Given the description of an element on the screen output the (x, y) to click on. 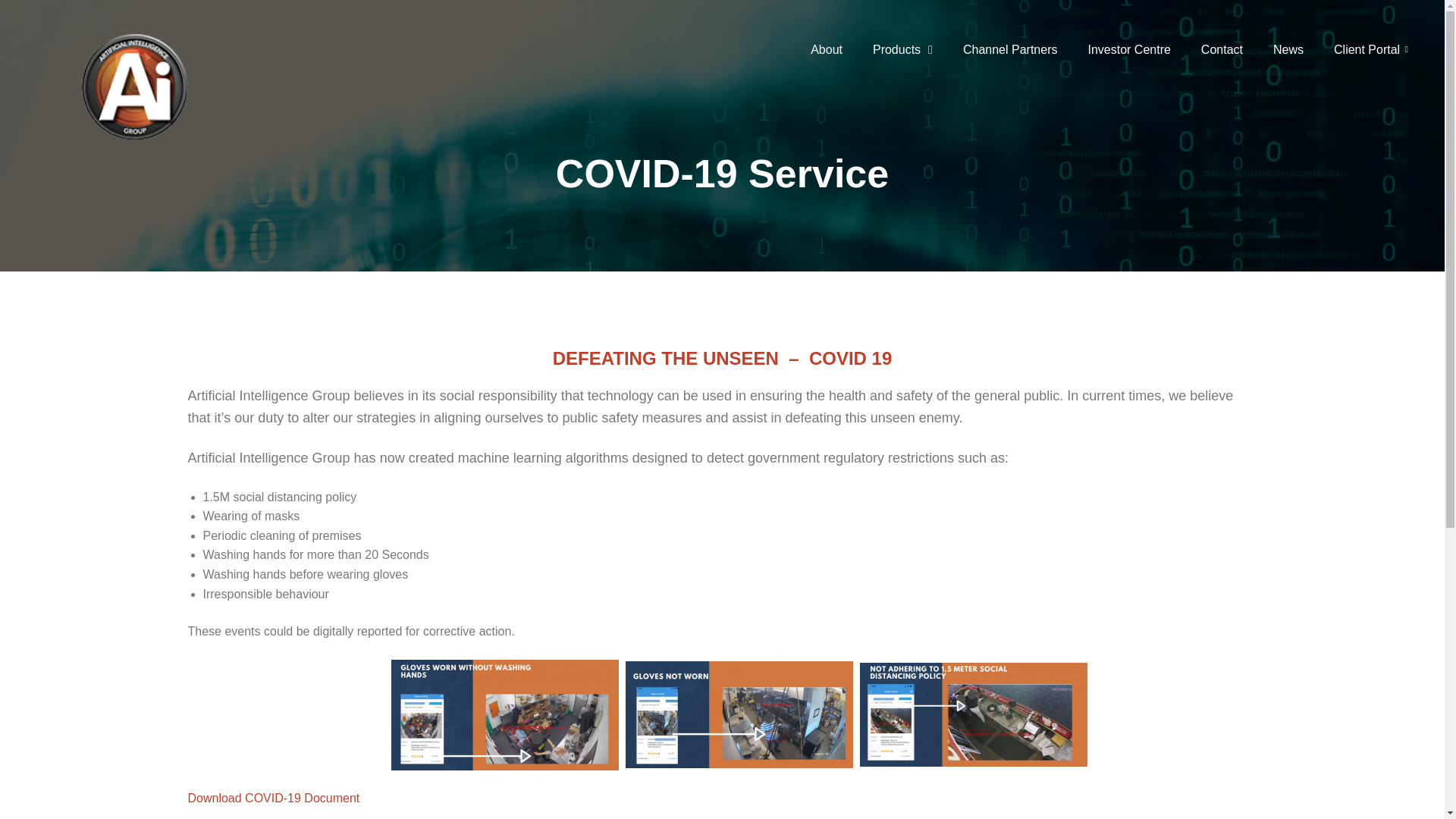
Products (902, 50)
About (825, 50)
Download COVID-19 Document  (274, 797)
News (1288, 50)
Investor Centre (1128, 50)
Contact (1221, 50)
Client Portal (1371, 50)
Channel Partners (1010, 50)
